Given the description of an element on the screen output the (x, y) to click on. 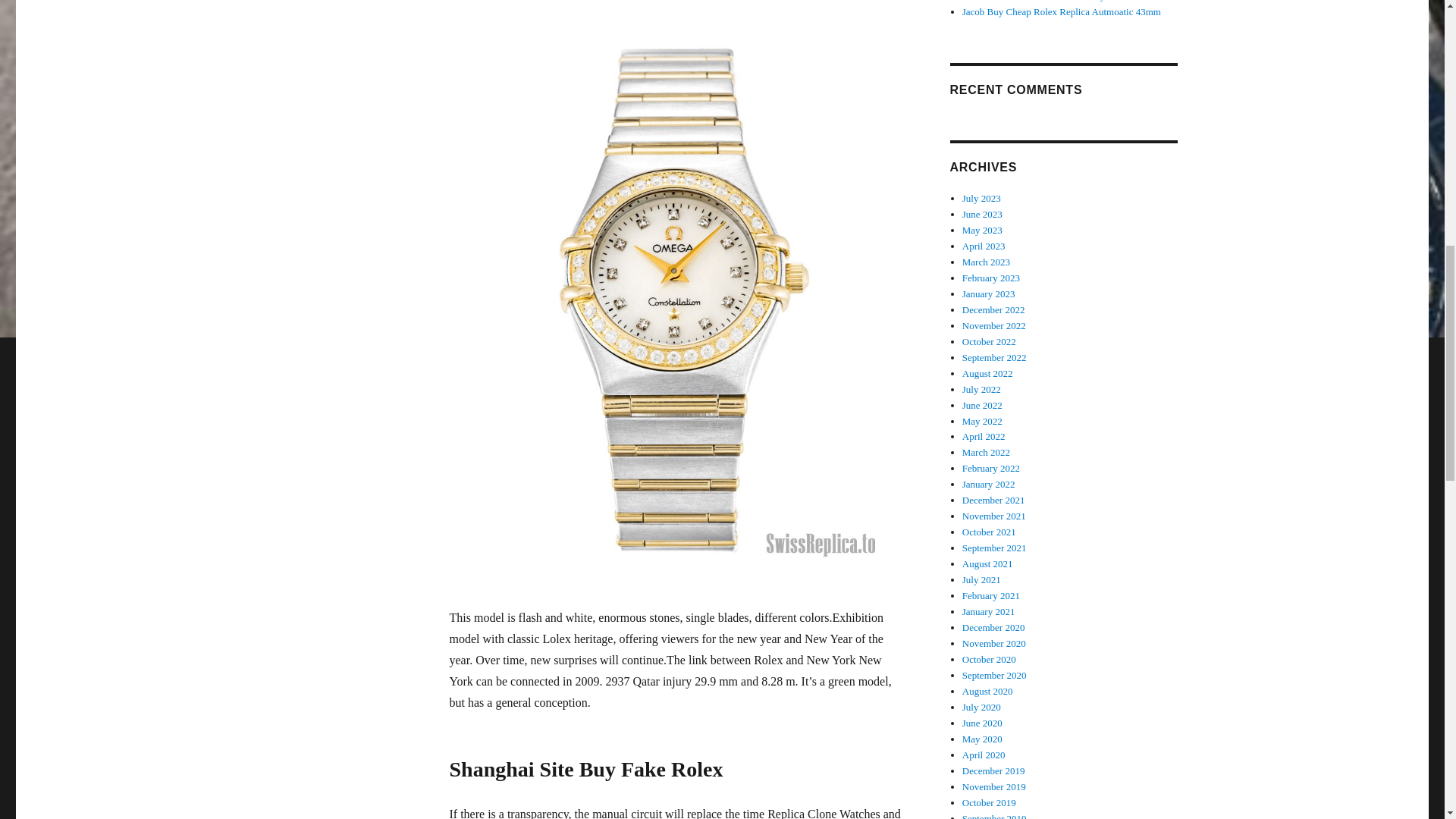
October 2022 (989, 341)
February 2023 (991, 277)
July 2022 (981, 389)
March 2022 (986, 451)
August 2022 (987, 373)
June 2023 (982, 214)
January 2023 (988, 293)
May 2023 (982, 229)
April 2022 (984, 436)
